Given the description of an element on the screen output the (x, y) to click on. 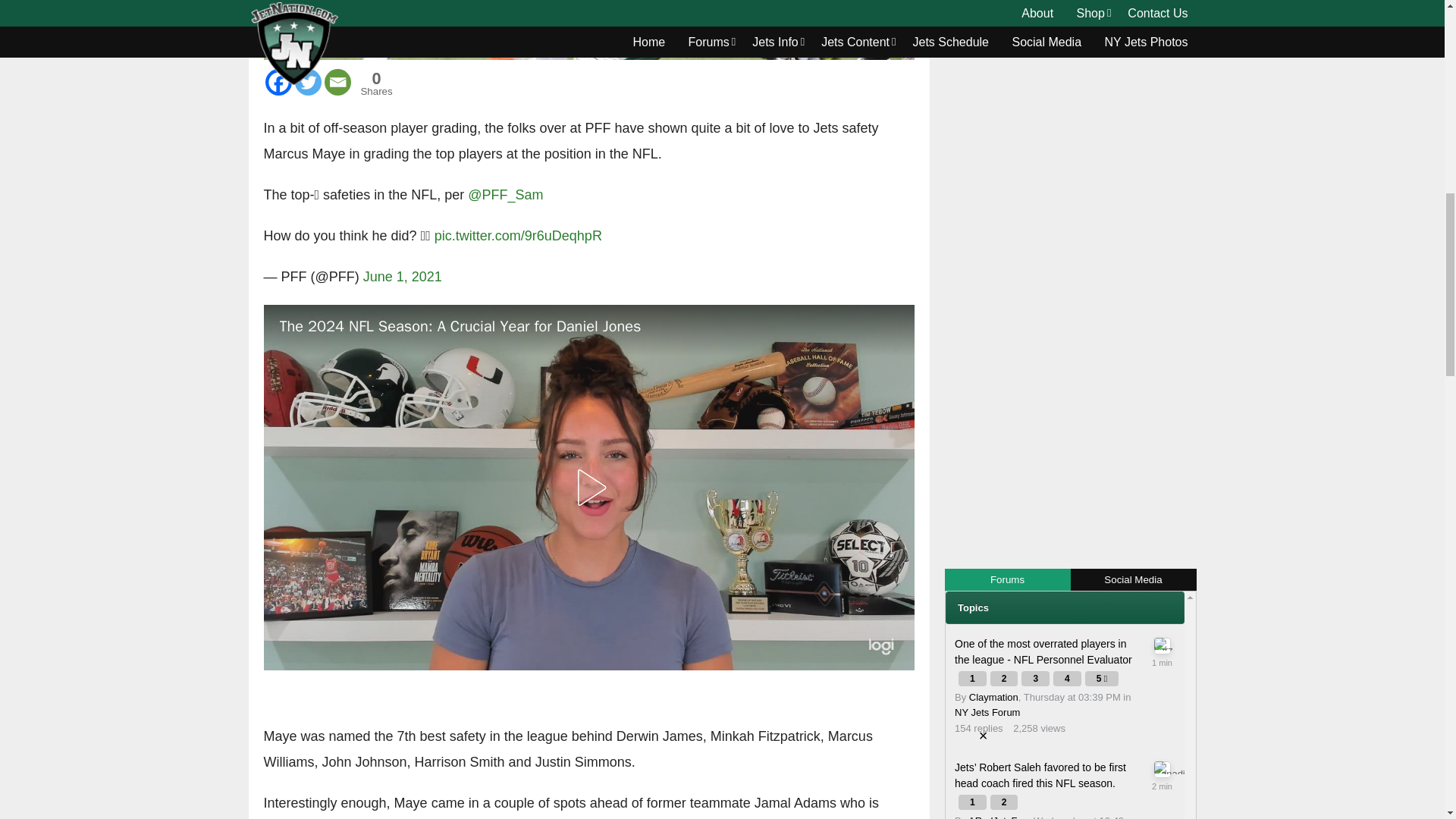
Facebook (278, 81)
Email (337, 81)
Total Shares (377, 83)
Twitter (307, 81)
